Given the description of an element on the screen output the (x, y) to click on. 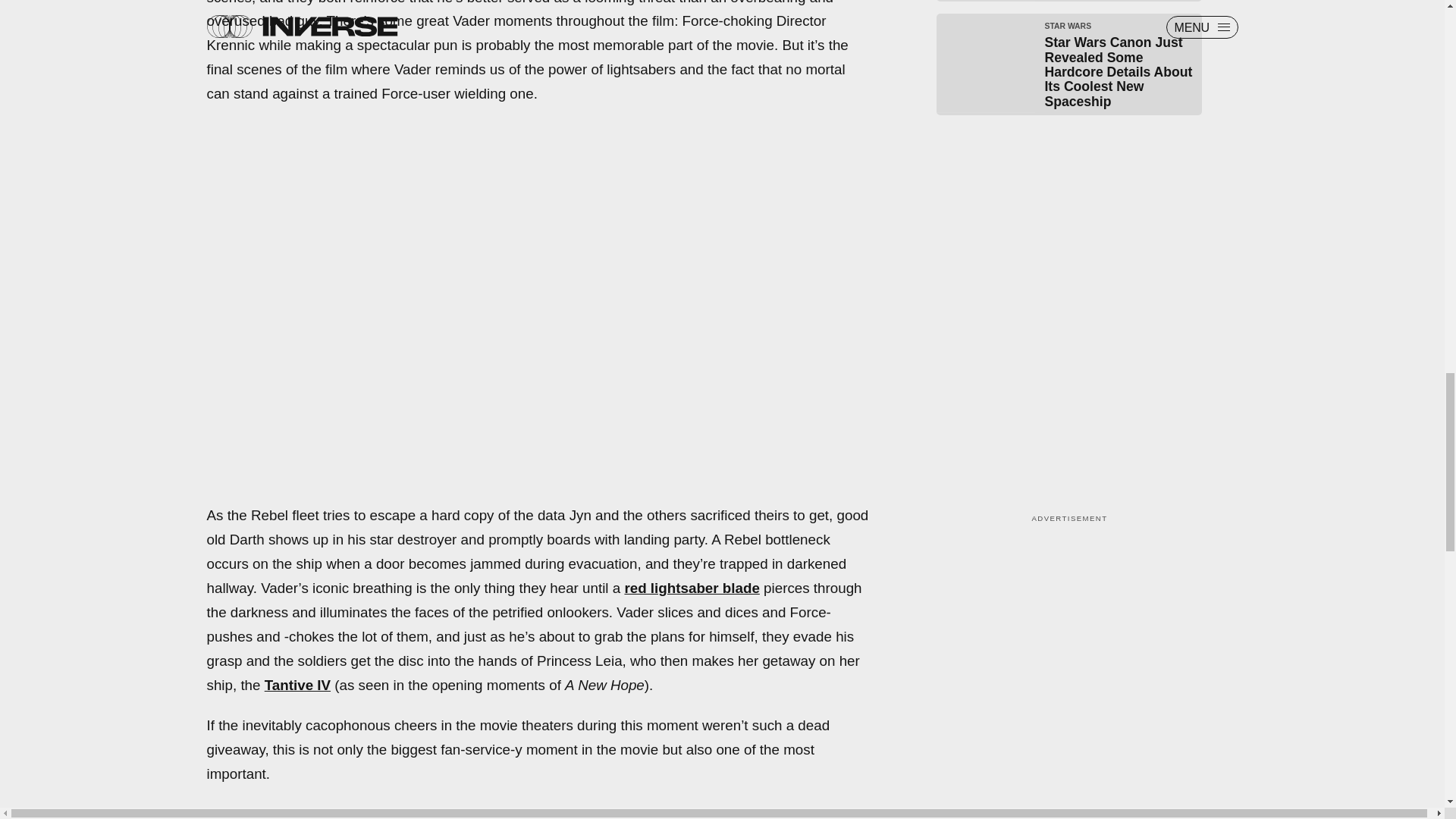
Tantive IV (297, 684)
red lightsaber blade (691, 587)
